Given the description of an element on the screen output the (x, y) to click on. 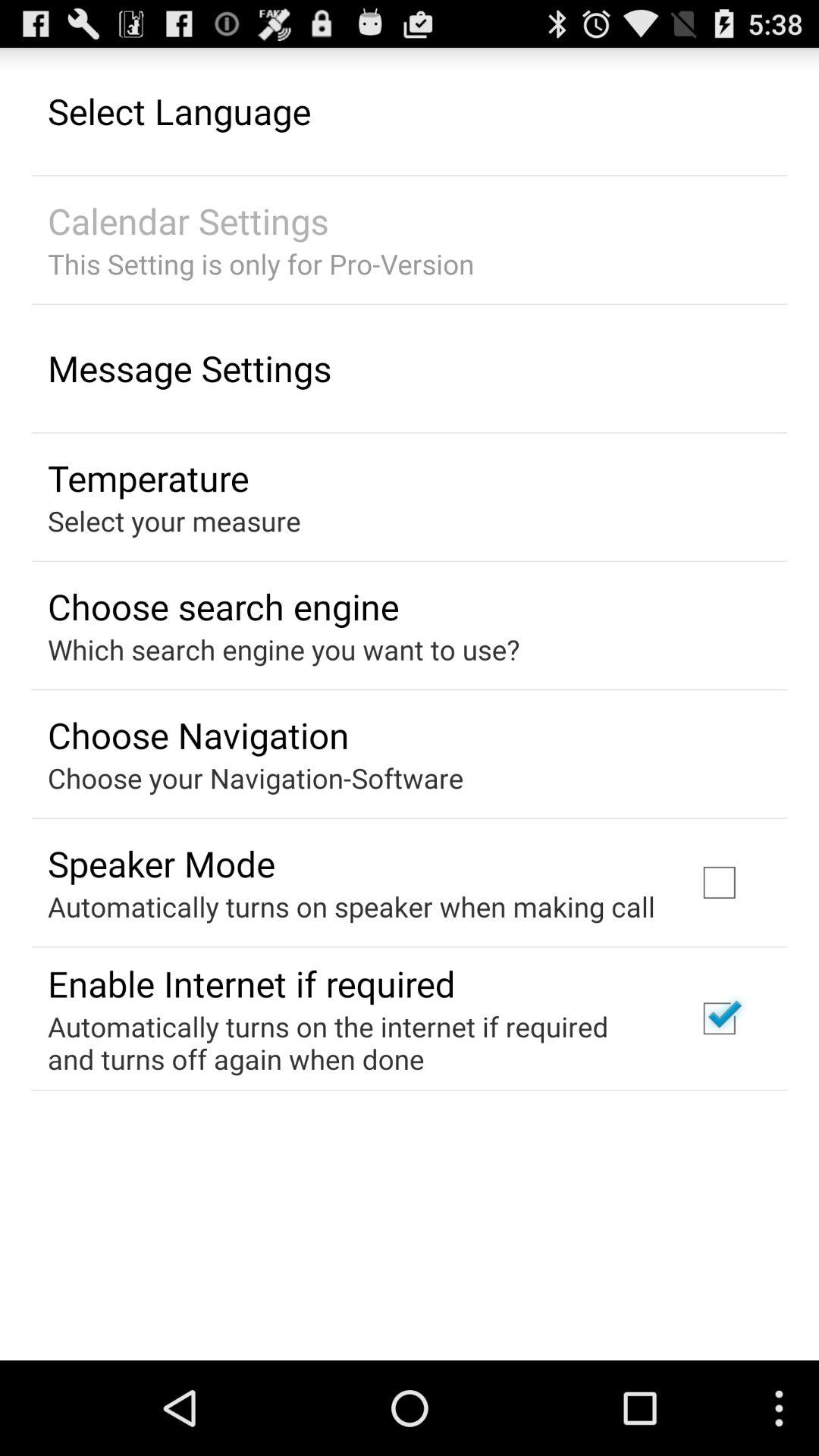
open the icon below temperature app (173, 520)
